Given the description of an element on the screen output the (x, y) to click on. 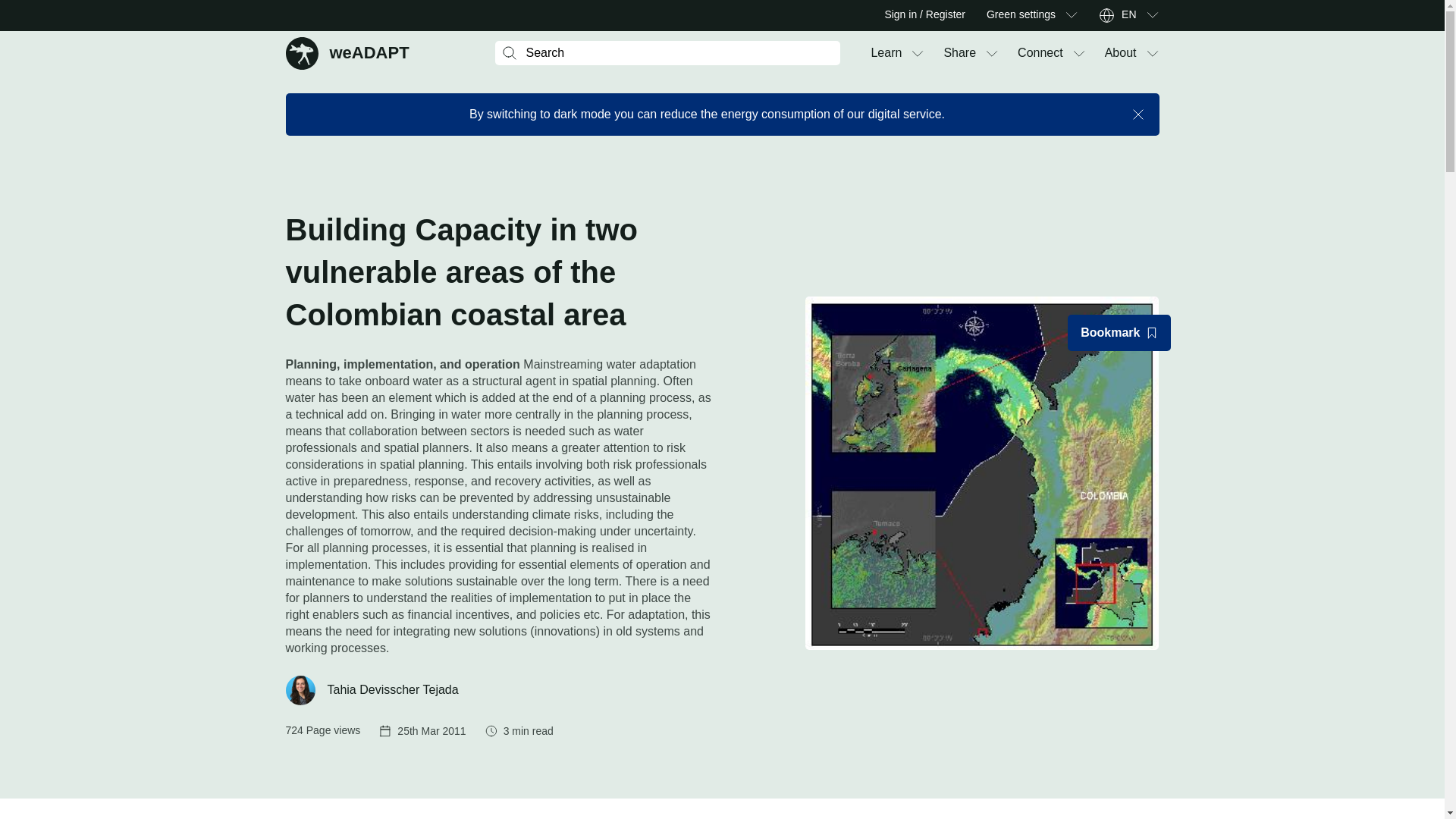
Share (959, 53)
About (1121, 53)
Learn (347, 52)
Green settings (885, 53)
Translate Submenu (1021, 14)
Submenu (1151, 14)
Connect (1071, 14)
EN (1039, 53)
